Given the description of an element on the screen output the (x, y) to click on. 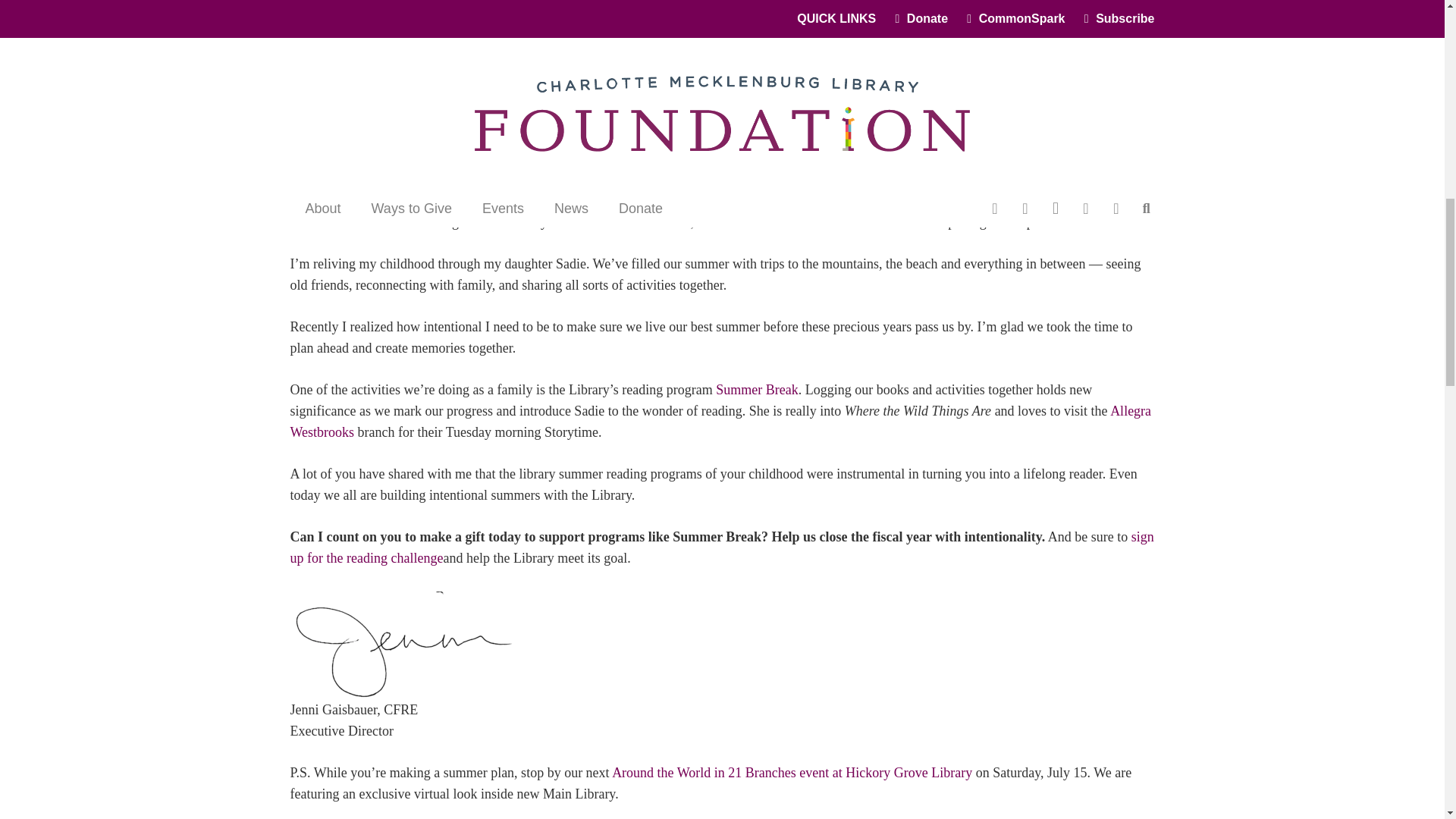
Email this (1027, 95)
Summer Break (756, 389)
Tweet this (1099, 95)
Share this (1136, 95)
Share this (1063, 95)
